Given the description of an element on the screen output the (x, y) to click on. 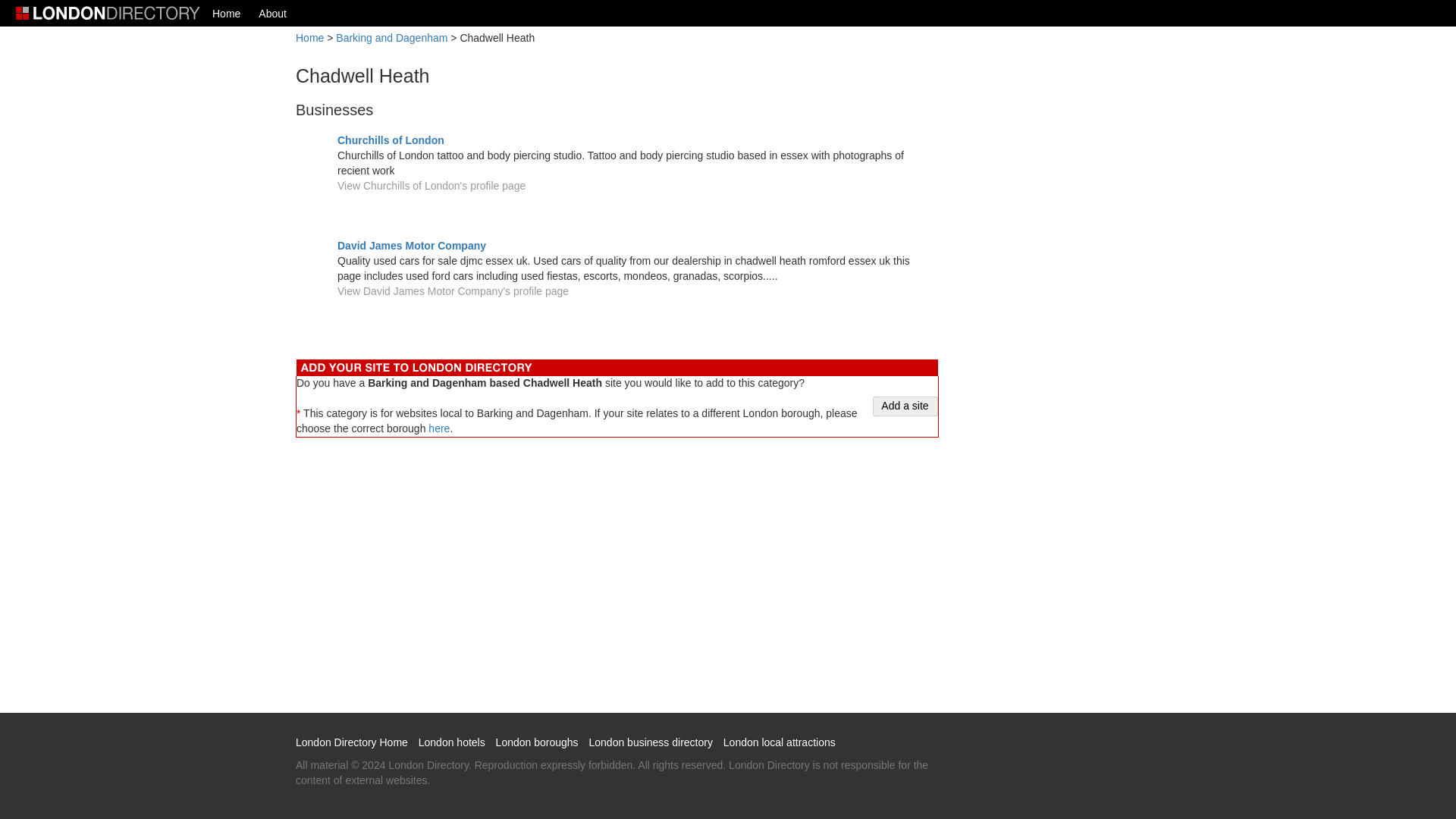
View Churchills of London's profile page (431, 185)
Home (225, 12)
View David James Motor Company's profile page (453, 291)
 Add a site  (904, 406)
here (438, 428)
Home (309, 37)
 Add a site  (904, 406)
Barking and Dagenham (391, 37)
David James Motor Company (411, 245)
Churchills of London (390, 140)
